Given the description of an element on the screen output the (x, y) to click on. 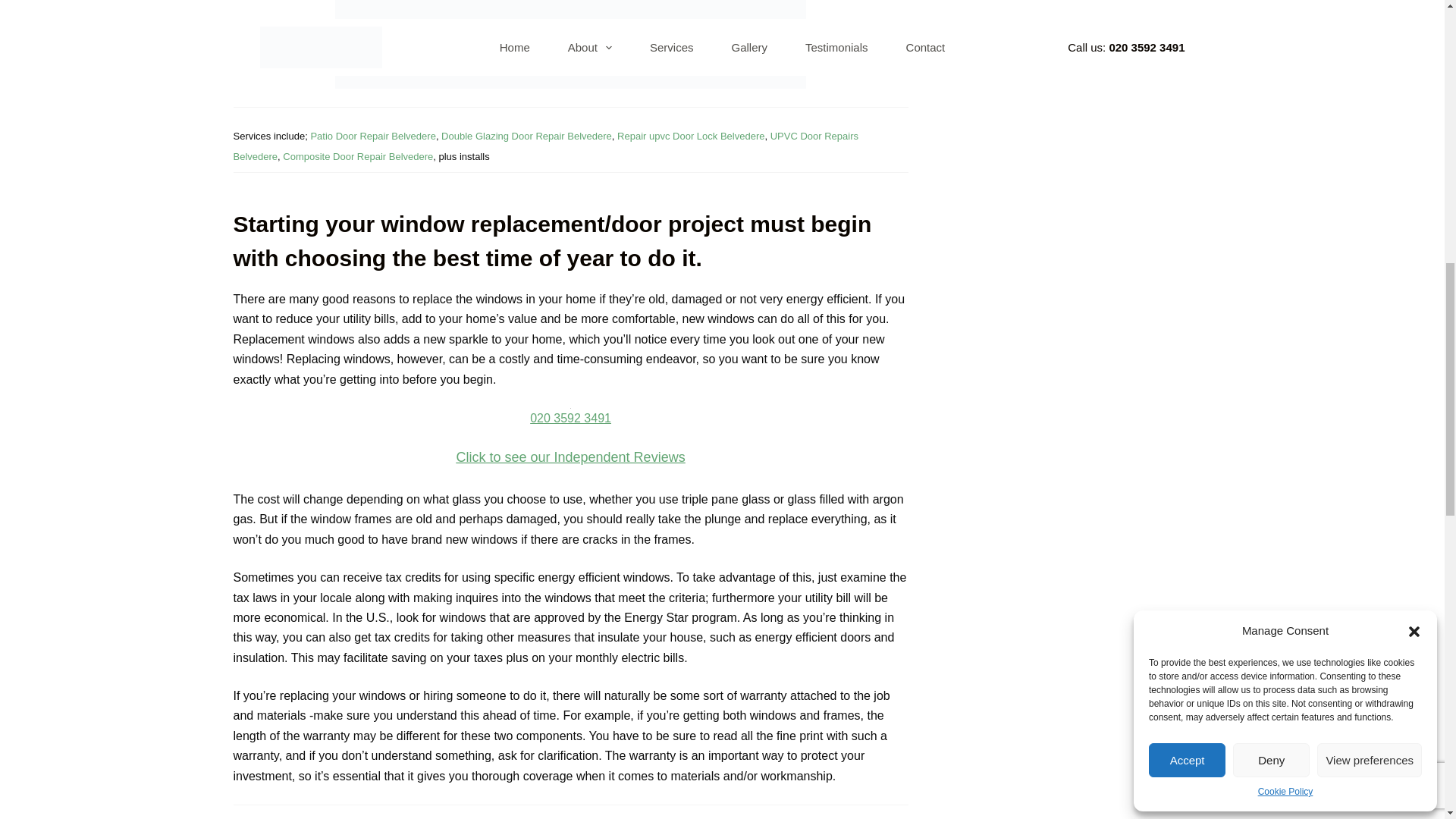
best (569, 457)
locks for (526, 135)
replacement (357, 156)
conservatory (690, 135)
patio doors (372, 135)
reviews (570, 416)
Double Glazed Door Repairs Belvedere (570, 44)
front door (545, 145)
Double Glazing Door Repair (570, 44)
